Given the description of an element on the screen output the (x, y) to click on. 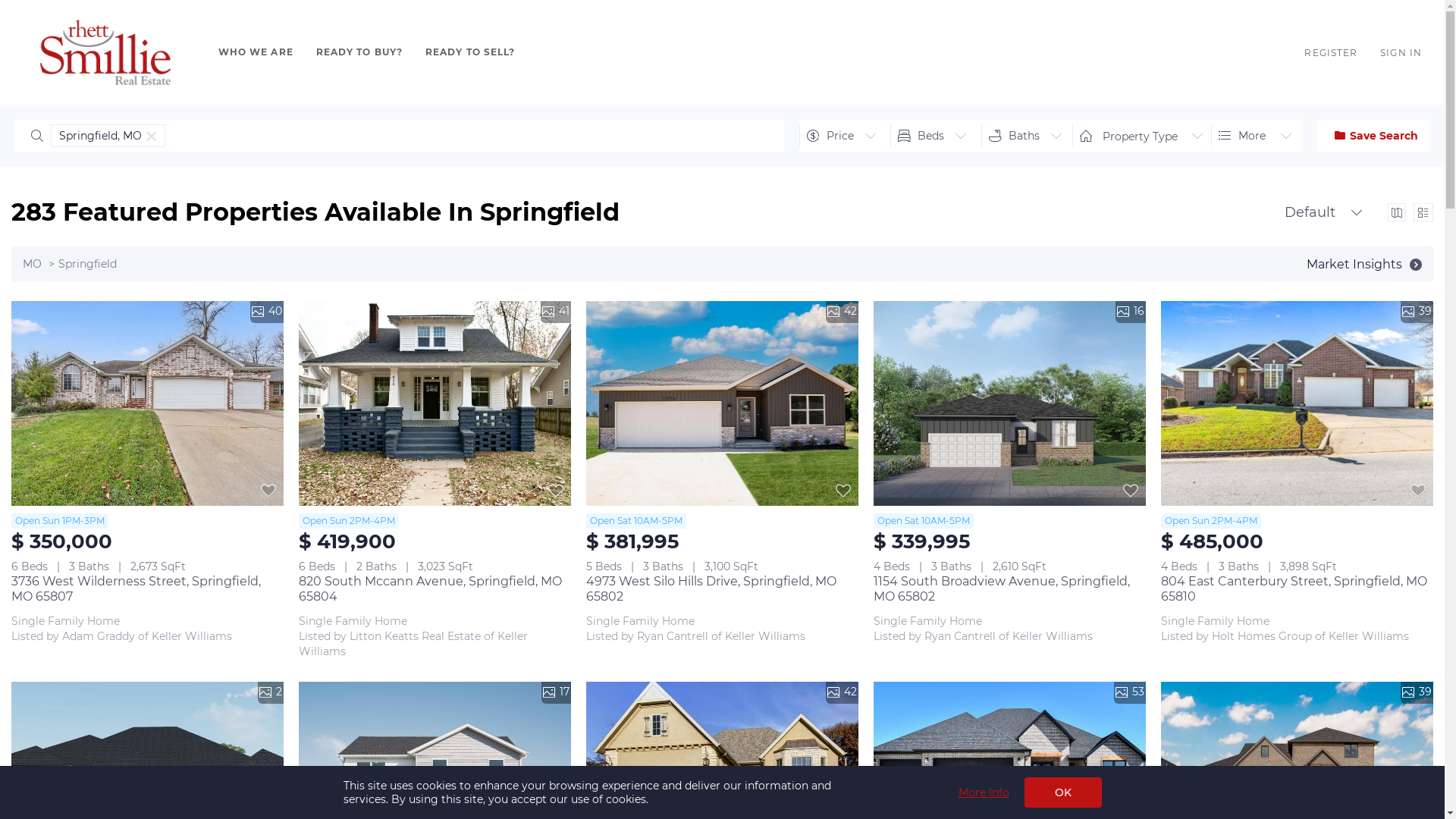
3736 West Wilderness Street, Springfield, MO 65807 Element type: text (135, 588)
820 South Mccann Avenue, Springfield, MO 65804 Element type: text (429, 588)
READY TO BUY? Element type: text (359, 52)
16 Element type: text (1009, 403)
40 Element type: text (147, 403)
MO > Element type: text (40, 264)
WHO WE ARE Element type: text (255, 52)
41 Element type: text (434, 403)
39 Element type: text (1297, 403)
1154 South Broadview Avenue, Springfield, MO 65802 Element type: text (1001, 588)
Market Insights Element type: text (1363, 264)
804 East Canterbury Street, Springfield, MO 65810 Element type: text (1294, 588)
More Info Element type: text (983, 792)
42 Element type: text (722, 403)
READY TO SELL? Element type: text (469, 52)
4973 West Silo Hills Drive, Springfield, MO 65802 Element type: text (711, 588)
Springfield Element type: text (87, 264)
